Given the description of an element on the screen output the (x, y) to click on. 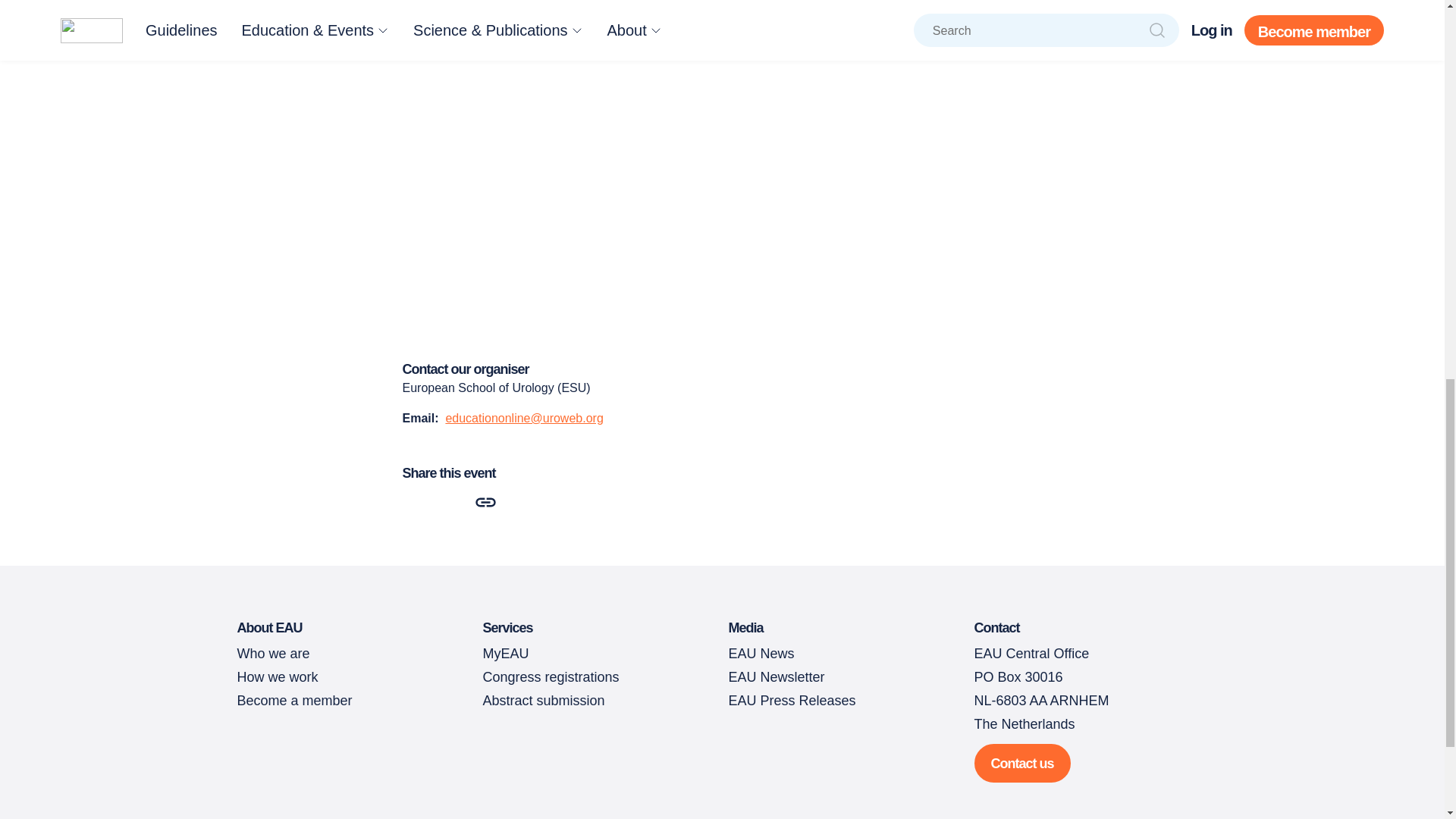
Become a member (293, 700)
How we work (276, 676)
Who we are (271, 653)
Abstract submission (542, 700)
Copy link to clipboard (484, 502)
Congress registrations (549, 676)
MyEAU (504, 653)
